Given the description of an element on the screen output the (x, y) to click on. 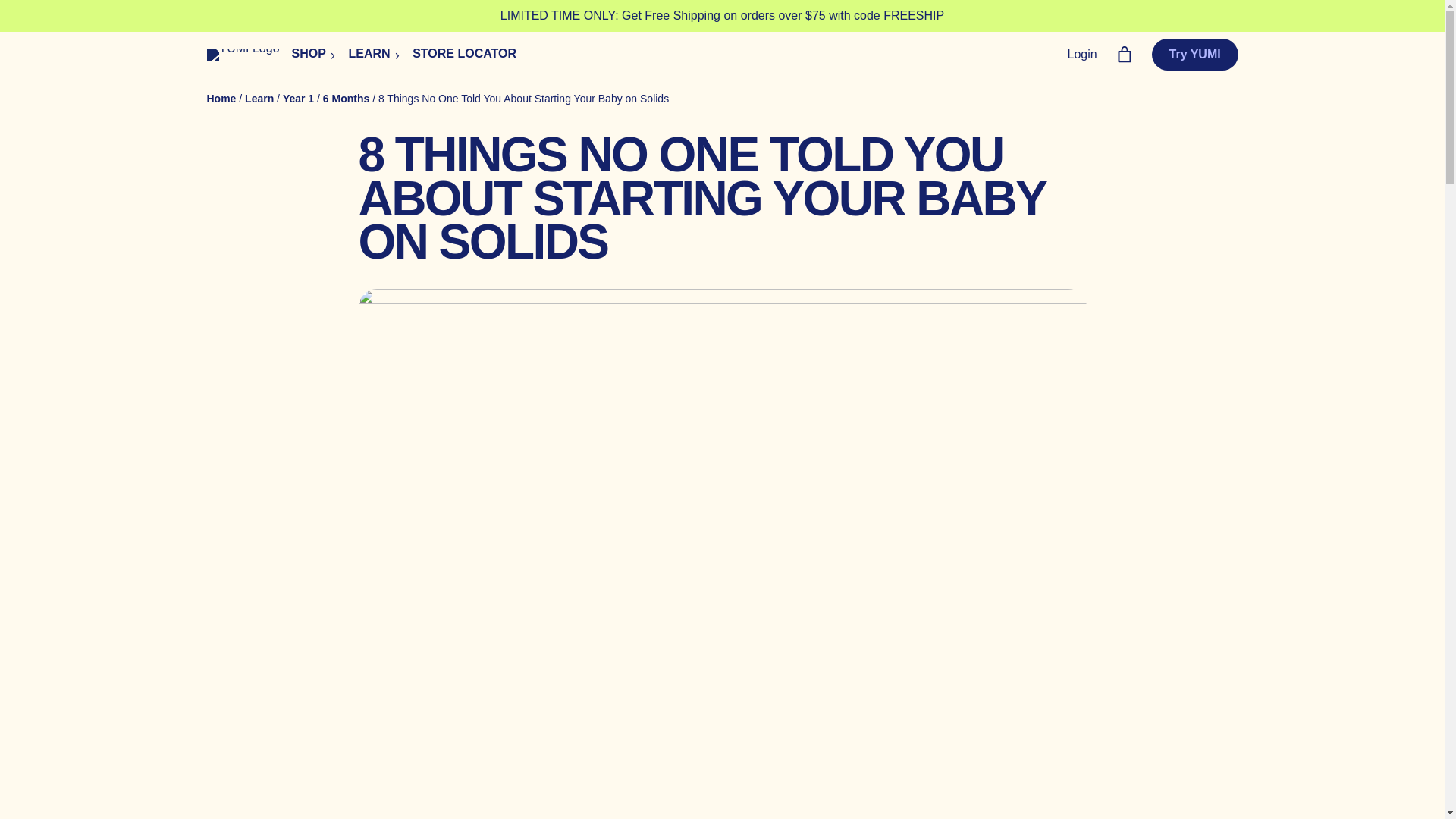
Go to YUMI. (220, 98)
Go to the 6 Months Category archives. (346, 98)
learn more (368, 54)
LEARN (368, 54)
SHOP (309, 54)
Go to Learn. (258, 98)
Go to the Year 1 Category archives. (298, 98)
